Given the description of an element on the screen output the (x, y) to click on. 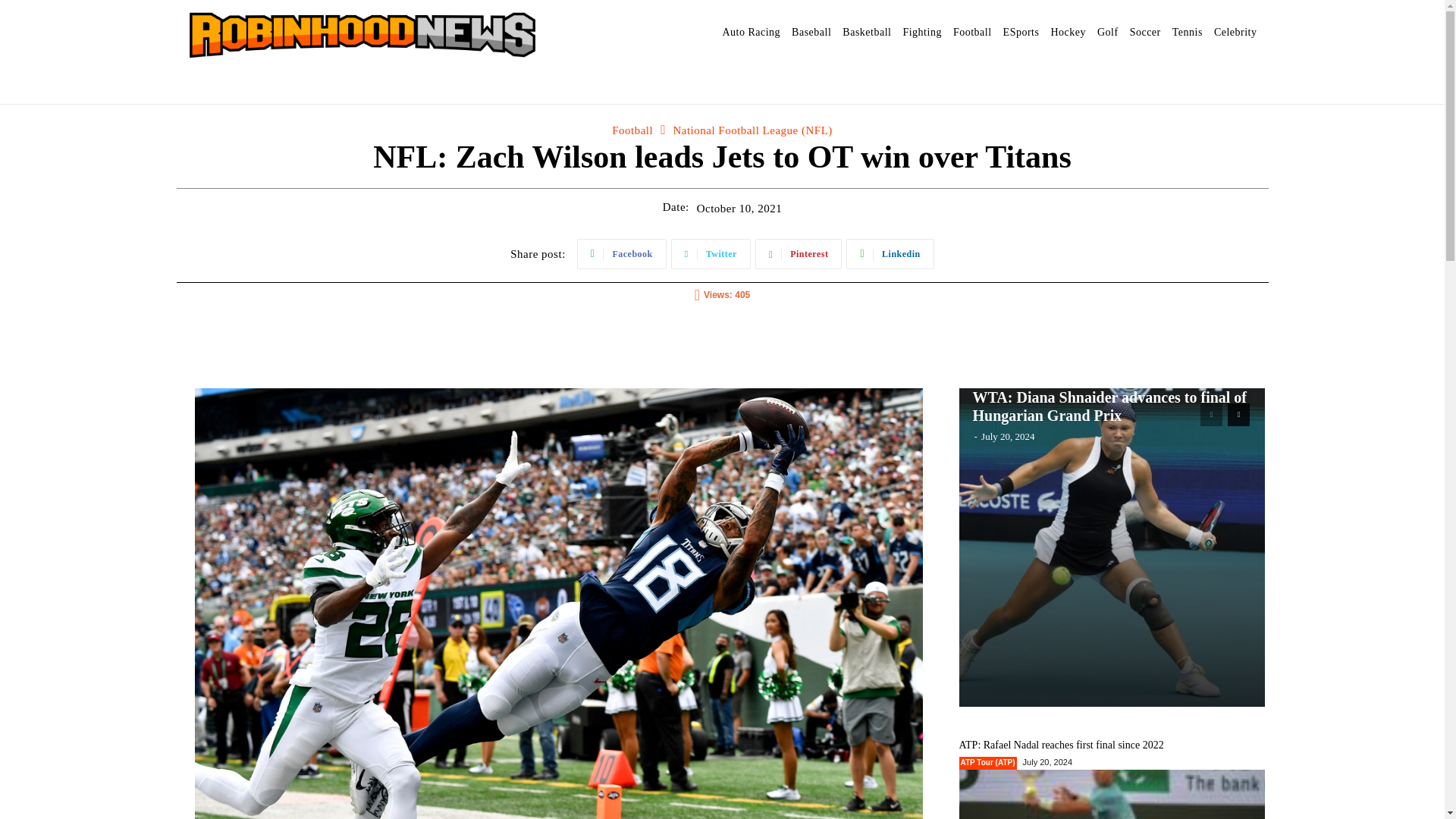
Facebook (621, 254)
Twitter (711, 254)
Linkedin (889, 254)
ATP: Rafael Nadal reaches first final since 2022 (1111, 794)
ATP: Rafael Nadal reaches first final since 2022 (1060, 745)
Pinterest (799, 254)
